Given the description of an element on the screen output the (x, y) to click on. 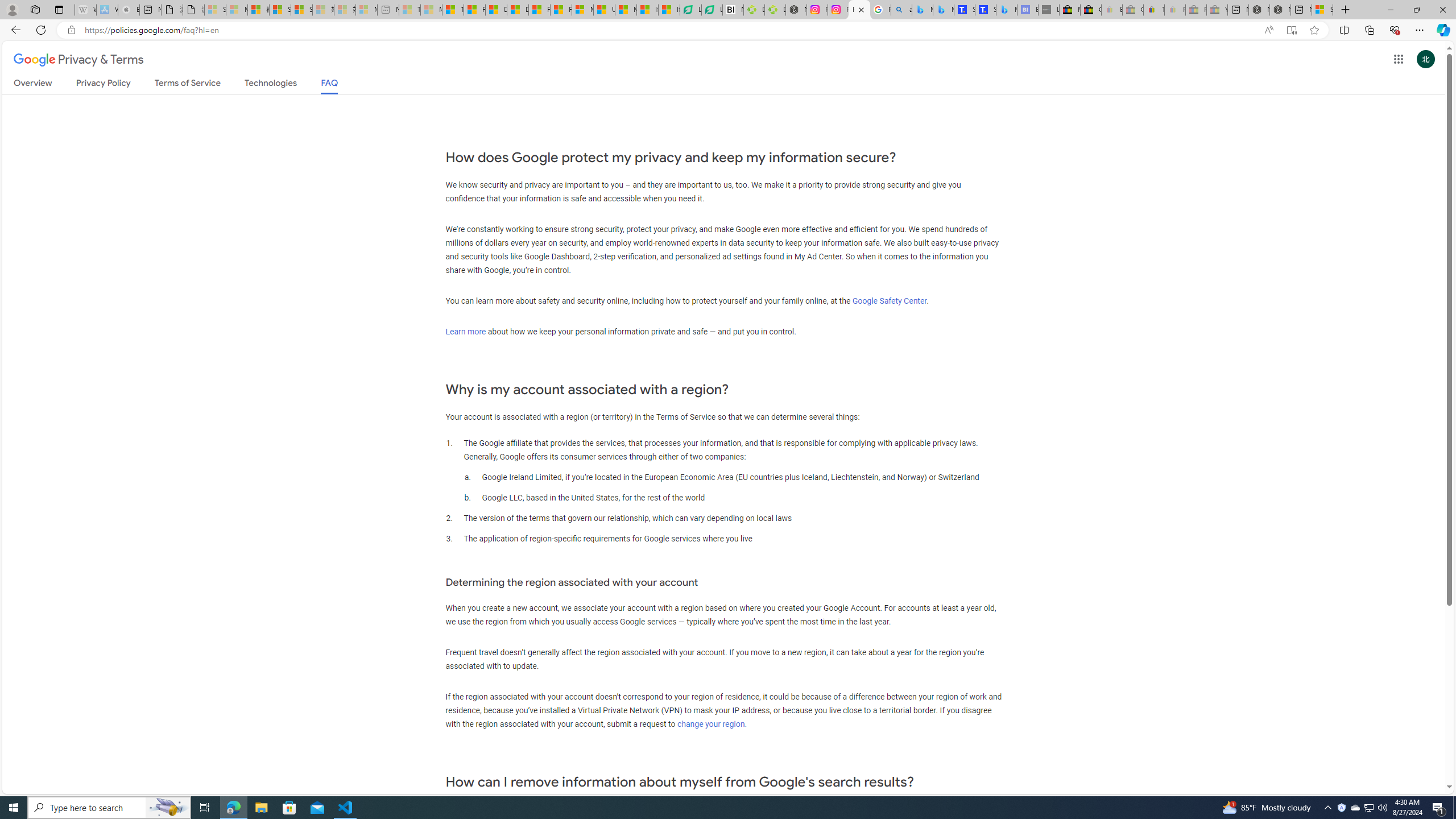
Press Room - eBay Inc. - Sleeping (1195, 9)
LendingTree - Compare Lenders (712, 9)
FAQ (328, 85)
Yard, Garden & Outdoor Living - Sleeping (1216, 9)
Microsoft Bing Travel - Flights from Hong Kong to Bangkok (922, 9)
